Given the description of an element on the screen output the (x, y) to click on. 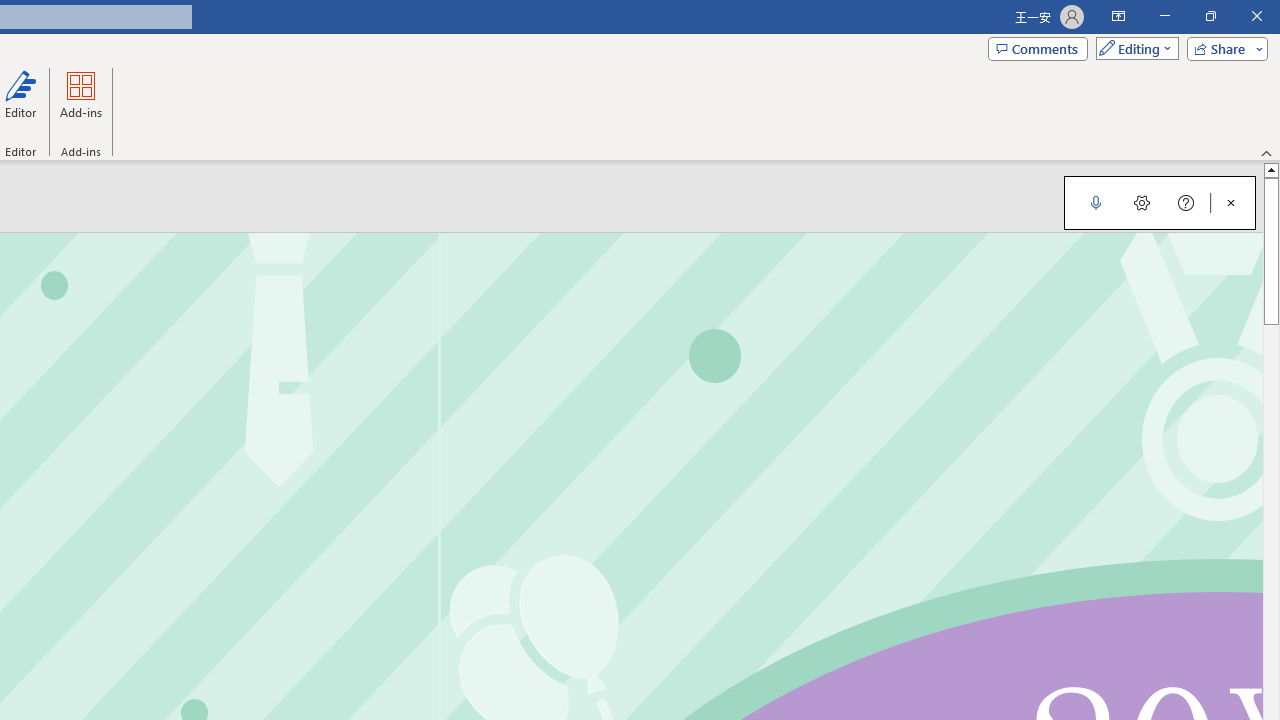
Line up (1271, 169)
